Given the description of an element on the screen output the (x, y) to click on. 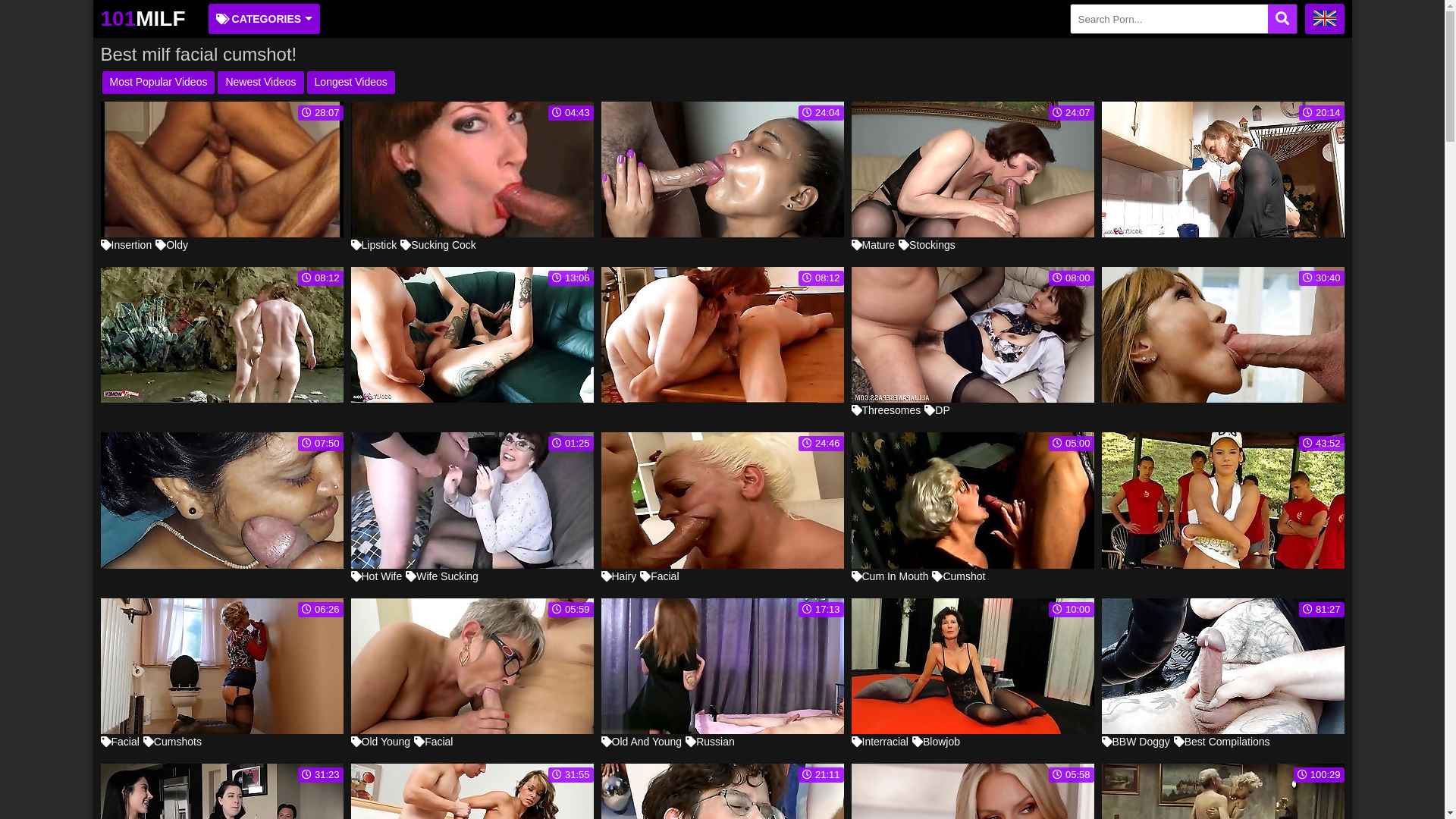
Old Young Element type: text (380, 741)
Hot Wife Element type: text (375, 576)
Stockings Element type: text (926, 244)
Facial Element type: text (119, 741)
CATEGORIES Element type: text (264, 18)
Newest Videos Element type: text (260, 82)
Best Compilations Element type: text (1221, 741)
Threesomes Element type: text (885, 410)
Cum In Mouth Element type: text (889, 576)
Blowjob Element type: text (936, 741)
Longest Videos Element type: text (351, 82)
Lipstick Element type: text (373, 244)
Insertion Element type: text (125, 244)
Wife Sucking Element type: text (441, 576)
Oldy Element type: text (171, 244)
Sucking Cock Element type: text (438, 244)
Facial Element type: text (433, 741)
BBW Doggy Element type: text (1135, 741)
DP Element type: text (936, 410)
Mature Element type: text (872, 244)
Cumshot Element type: text (958, 576)
Most Popular Videos Element type: text (157, 82)
101MILF Element type: text (142, 18)
Facial Element type: text (659, 576)
Hairy Element type: text (618, 576)
Interracial Element type: text (878, 741)
Russian Element type: text (709, 741)
Cumshots Element type: text (172, 741)
Old And Young Element type: text (640, 741)
